Given the description of an element on the screen output the (x, y) to click on. 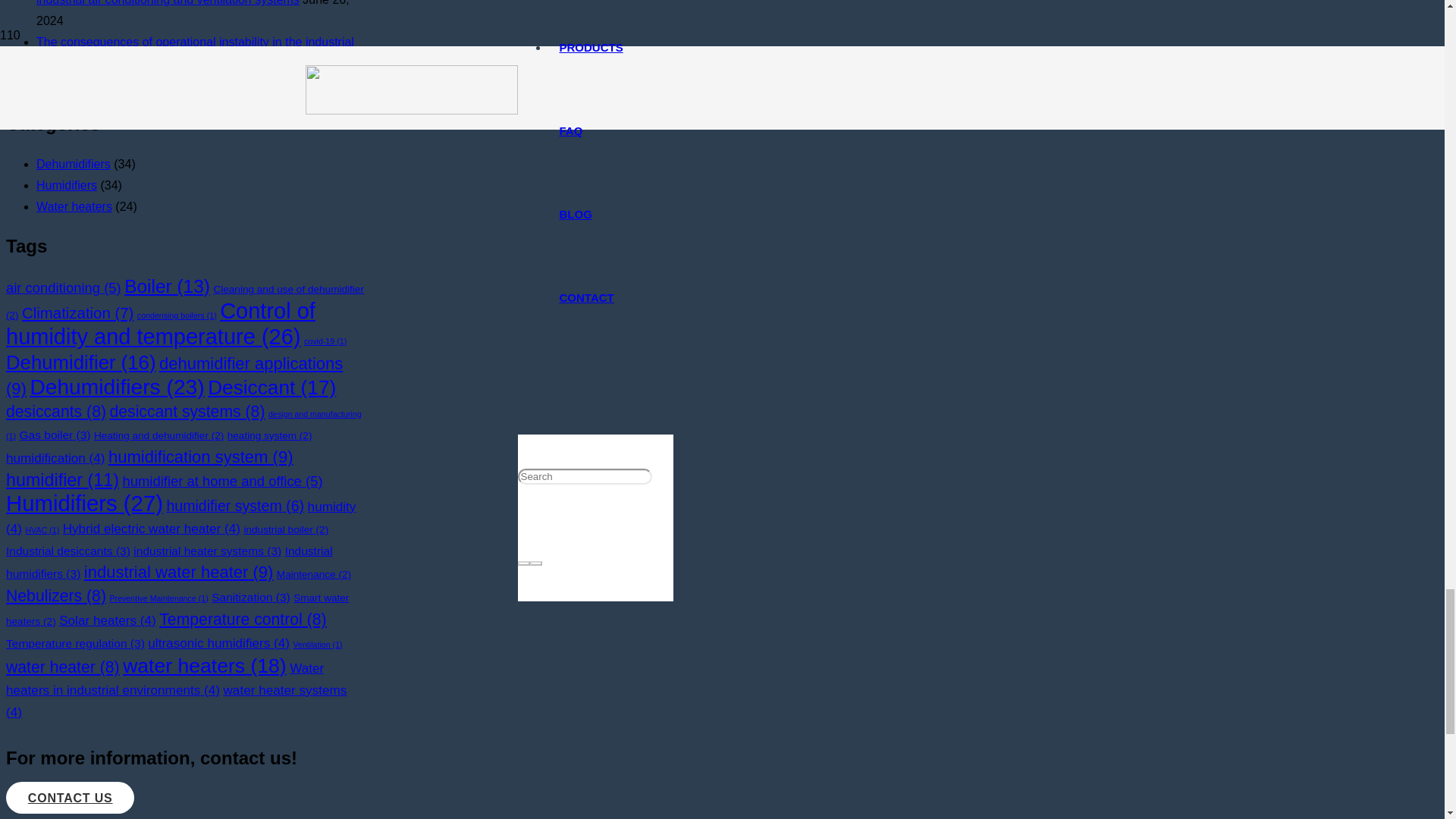
Contact (69, 798)
Dehumidifiers (73, 164)
